Given the description of an element on the screen output the (x, y) to click on. 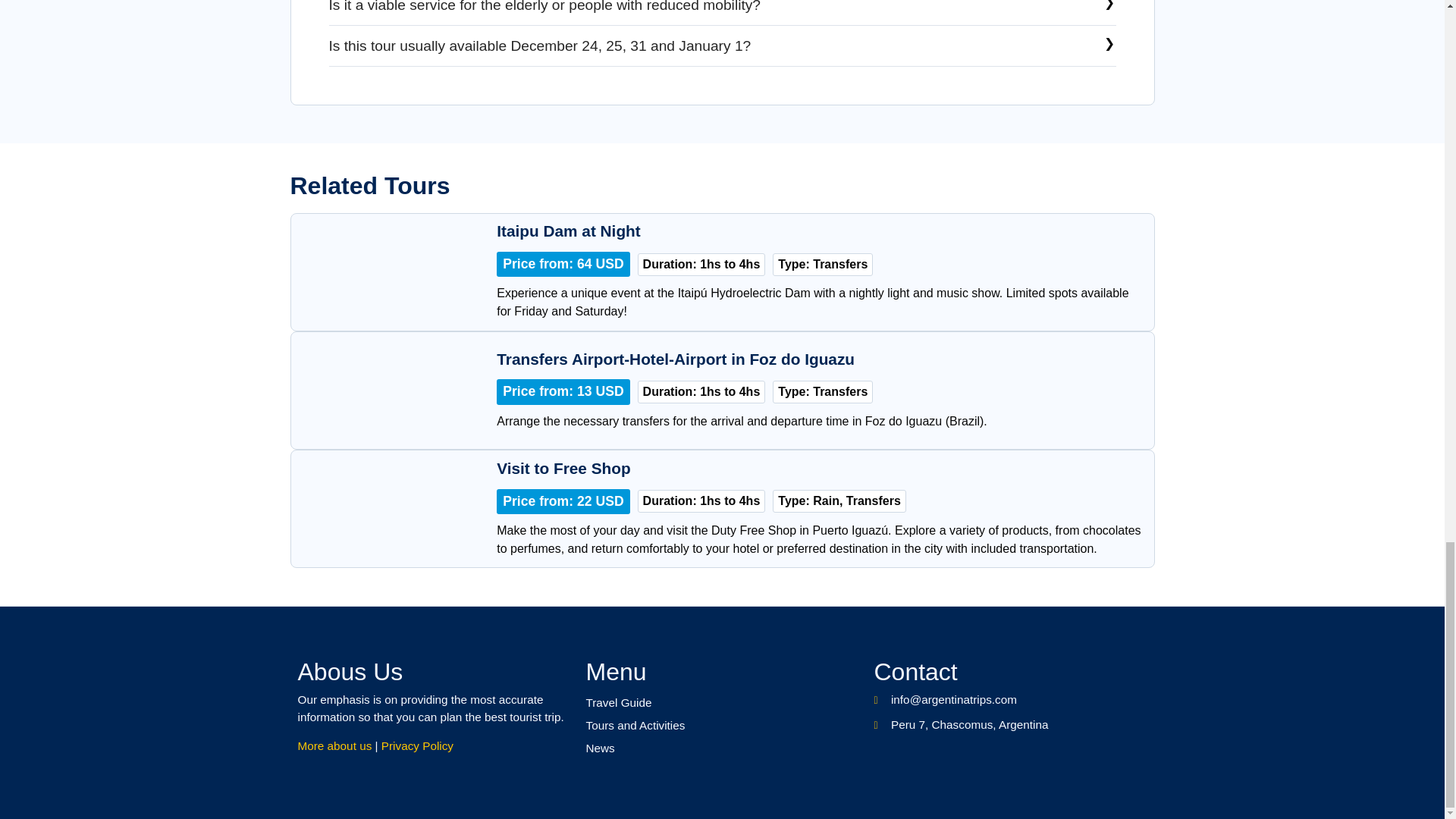
Itaipu Dam at Night (568, 230)
